Given the description of an element on the screen output the (x, y) to click on. 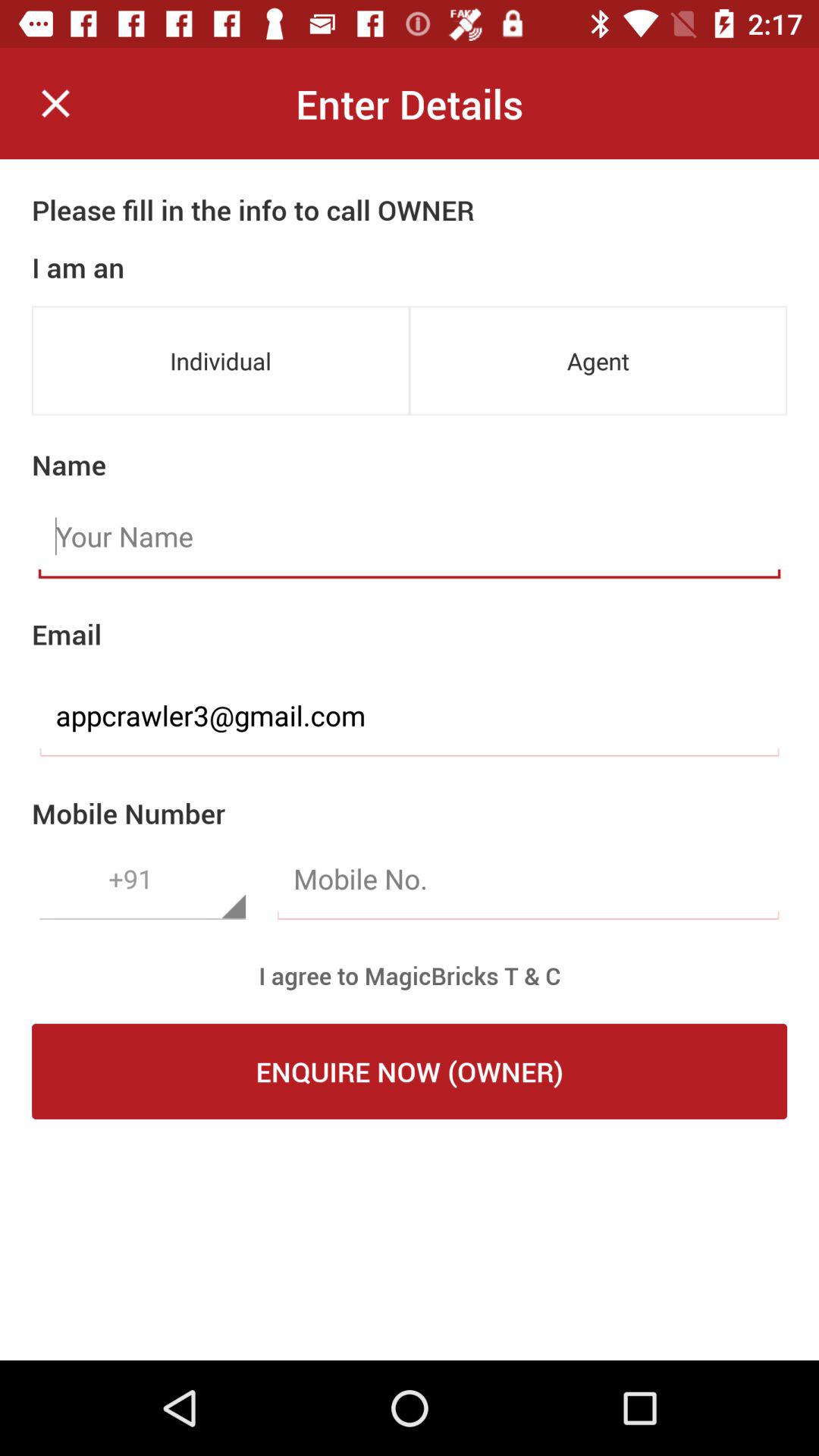
choose item below the email item (409, 716)
